Given the description of an element on the screen output the (x, y) to click on. 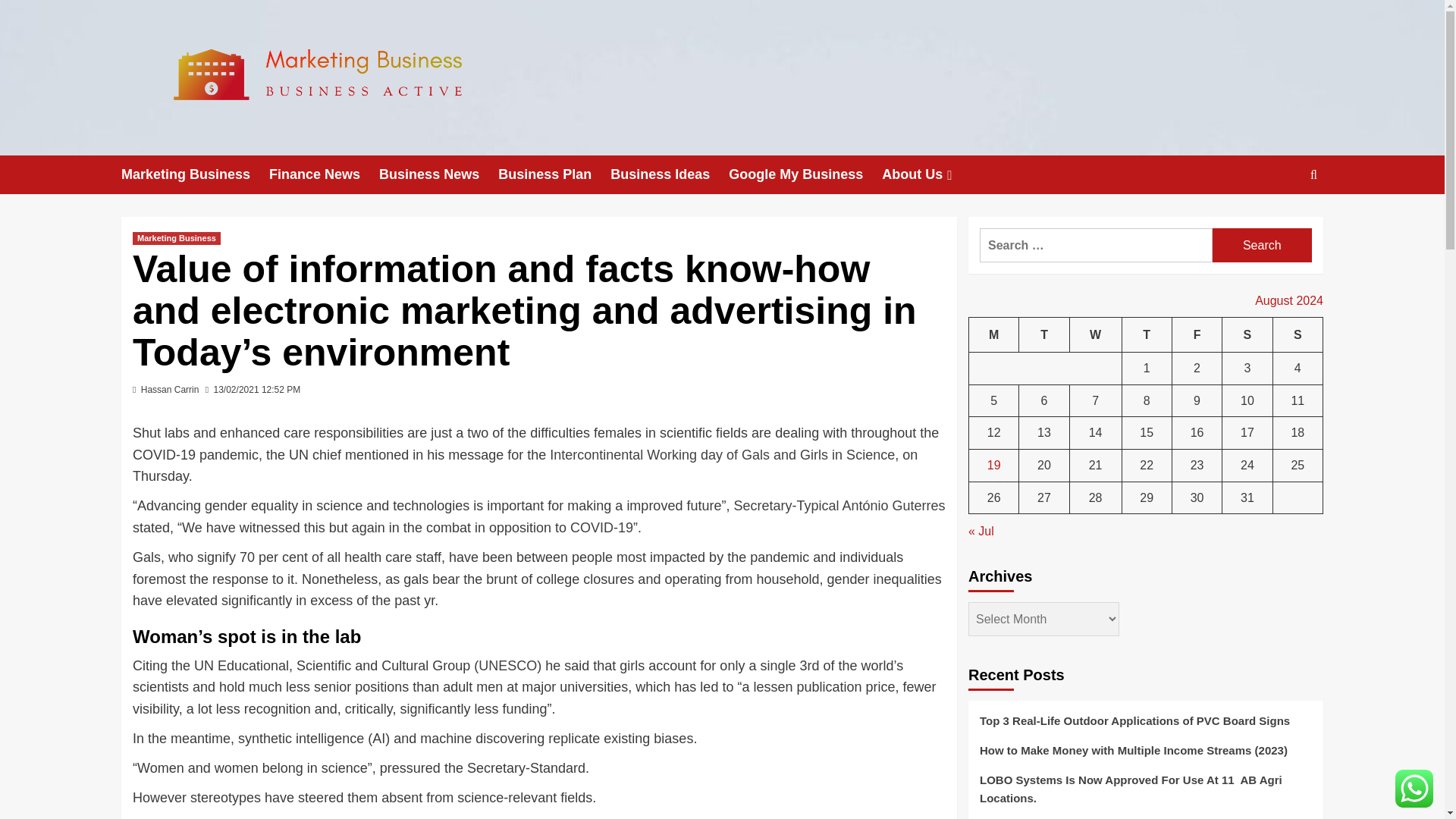
Business Plan (553, 174)
Business Ideas (669, 174)
Thursday (1146, 334)
Business News (437, 174)
COVID-19 (601, 527)
Google My Business (805, 174)
UNESCO (508, 665)
Hassan Carrin (170, 389)
Search (1261, 245)
Sunday (1297, 334)
